Given the description of an element on the screen output the (x, y) to click on. 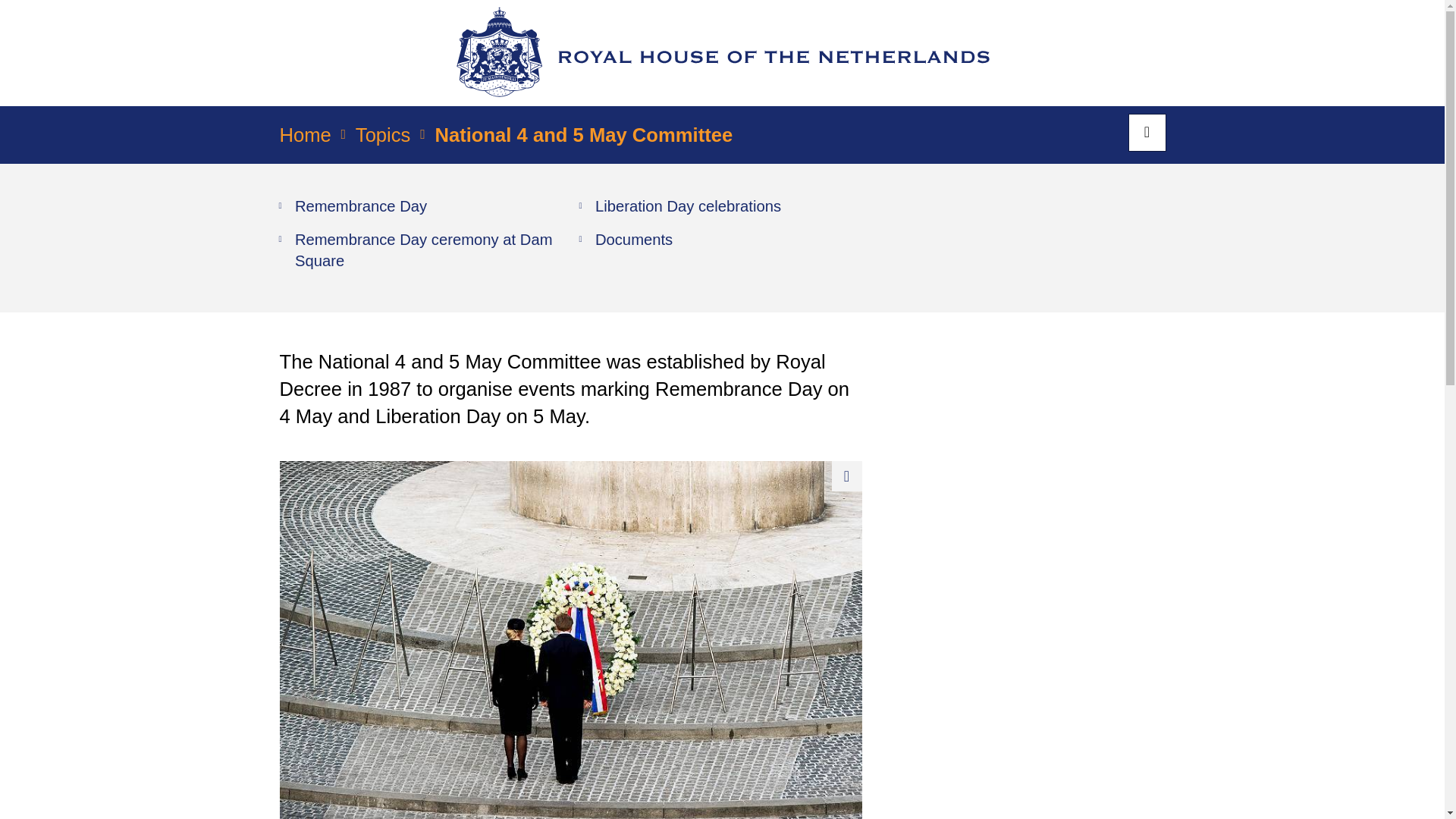
Documents (625, 239)
Home (304, 139)
Remembrance Day ceremony at Dam Square (421, 250)
Open search box (1146, 132)
Liberation Day celebrations (679, 206)
Topics (382, 139)
Remembrance Day (352, 206)
Open search box (1146, 132)
Enlarge image (846, 476)
